Given the description of an element on the screen output the (x, y) to click on. 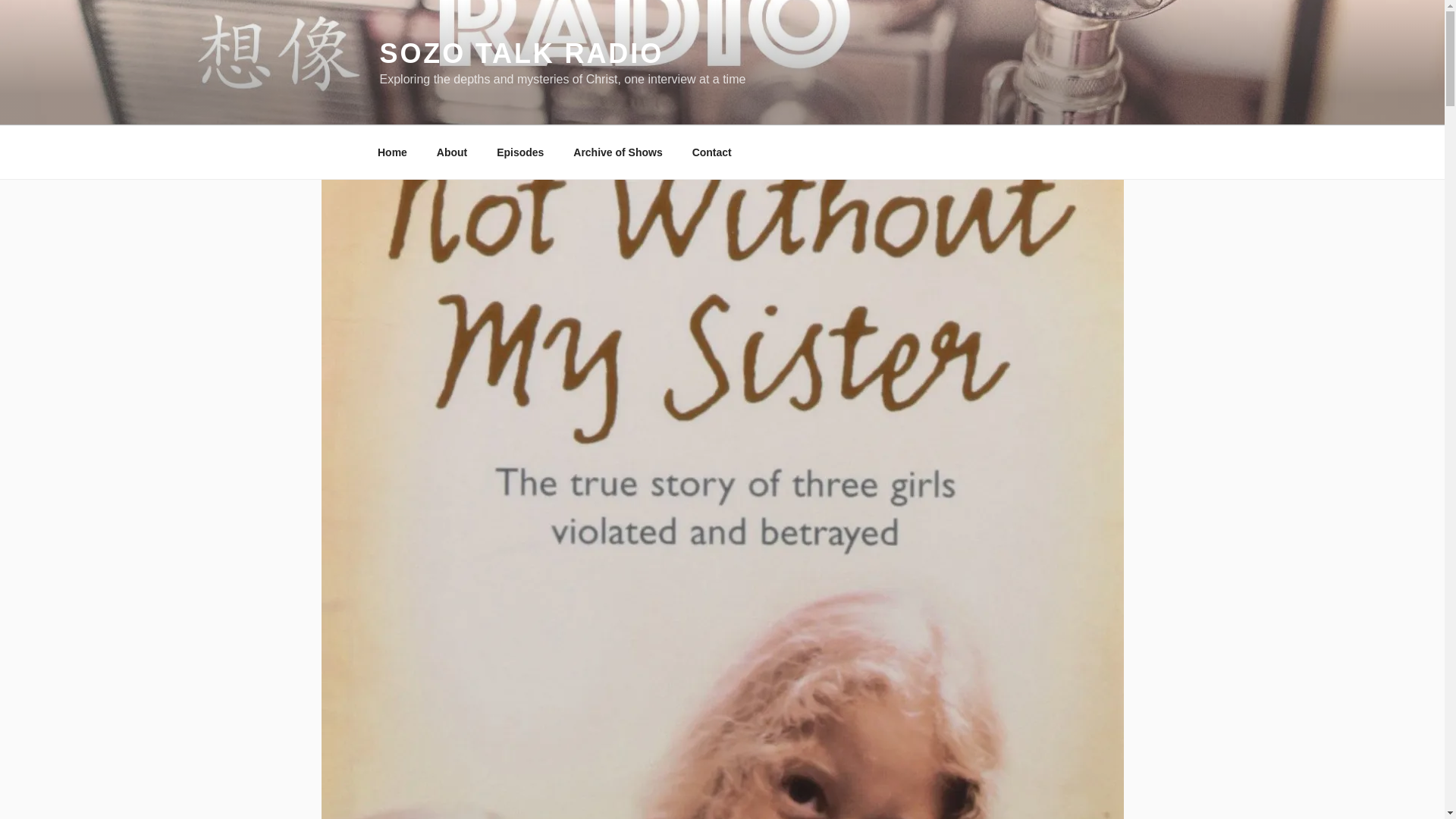
About (451, 151)
Episodes (520, 151)
SOZO TALK RADIO (520, 52)
Home (392, 151)
Archive of Shows (617, 151)
Contact (711, 151)
